Given the description of an element on the screen output the (x, y) to click on. 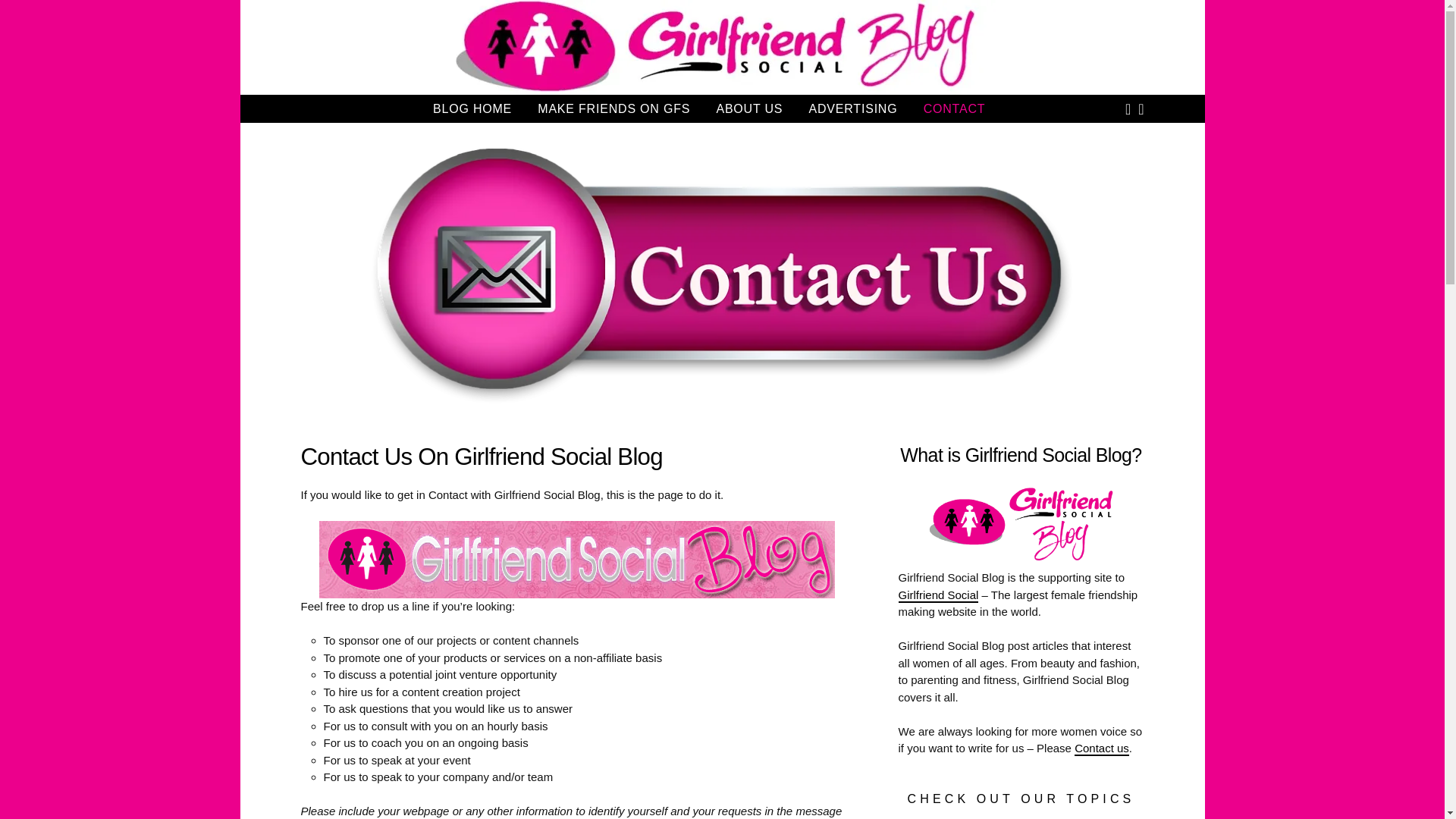
BLOG HOME (472, 108)
SEARCH (1140, 109)
Subscribe (1009, 266)
SUBSCRIBE (1128, 109)
ADVERTISING (852, 108)
CONTACT (954, 108)
Contact us (1101, 748)
MAKE FRIENDS ON GFS (613, 108)
ABOUT US (749, 108)
Contact Us 2 (576, 559)
Girlfriend Social (938, 594)
